Given the description of an element on the screen output the (x, y) to click on. 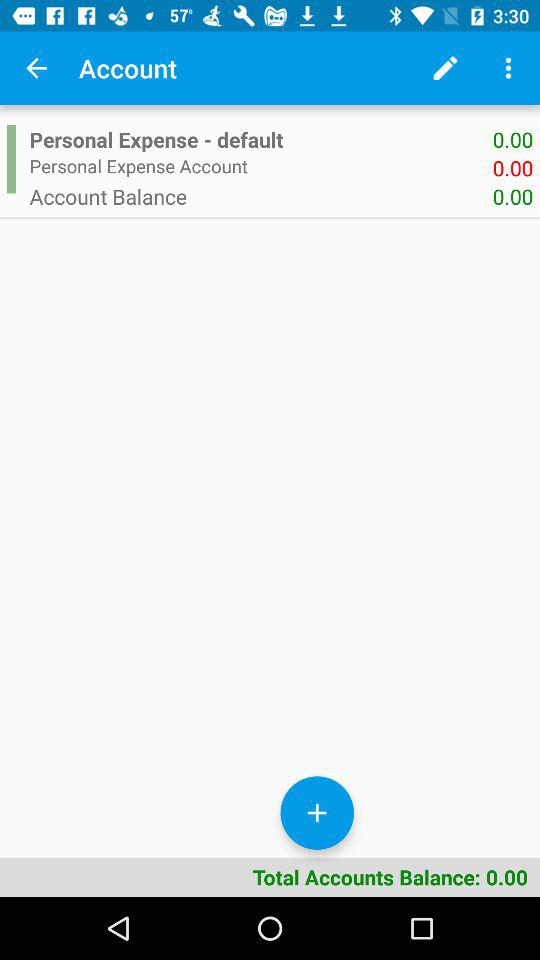
select the item above personal expense - default icon (444, 67)
